Given the description of an element on the screen output the (x, y) to click on. 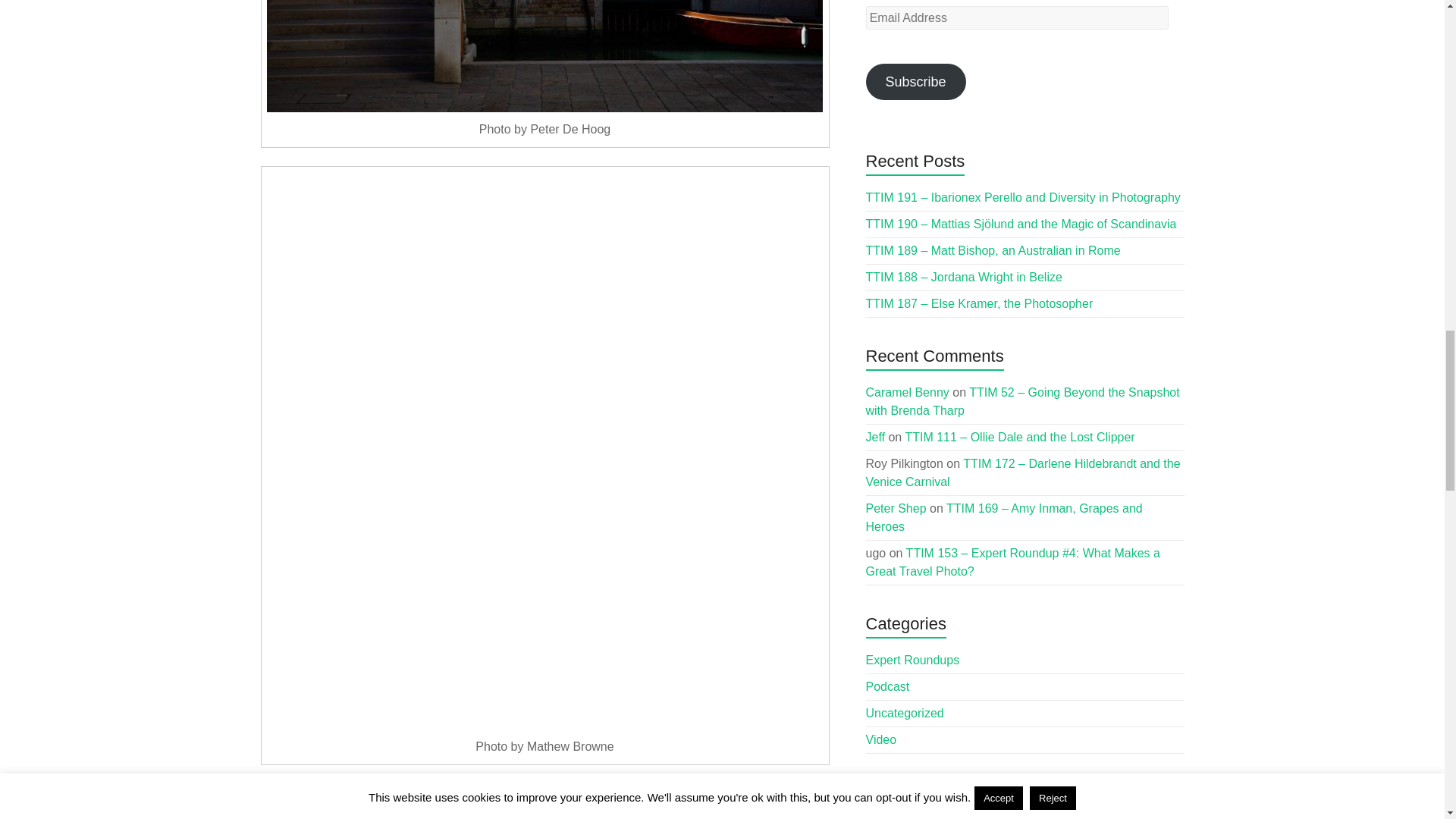
Subscribe (916, 81)
